Given the description of an element on the screen output the (x, y) to click on. 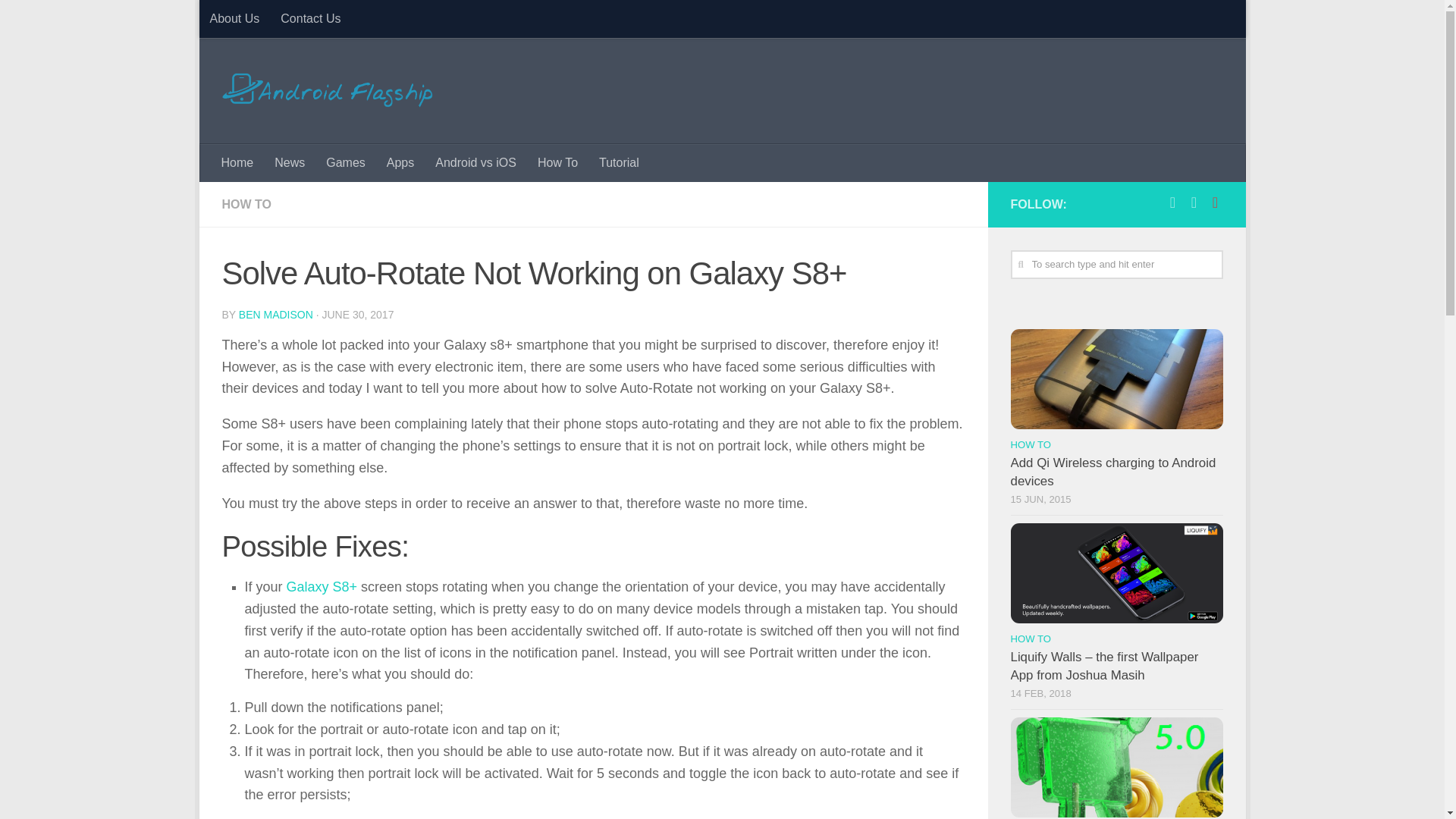
To search type and hit enter (1116, 264)
About Us (233, 18)
Posts by Ben Madison (275, 314)
Follow us on Facebook (1171, 201)
Games (345, 162)
Follow us on Email-o (1215, 201)
HOW TO (245, 204)
How To (557, 162)
Android vs iOS (476, 162)
Home (237, 162)
Apps (400, 162)
Follow us on Twitter (1193, 201)
News (289, 162)
Tutorial (618, 162)
BEN MADISON (275, 314)
